Given the description of an element on the screen output the (x, y) to click on. 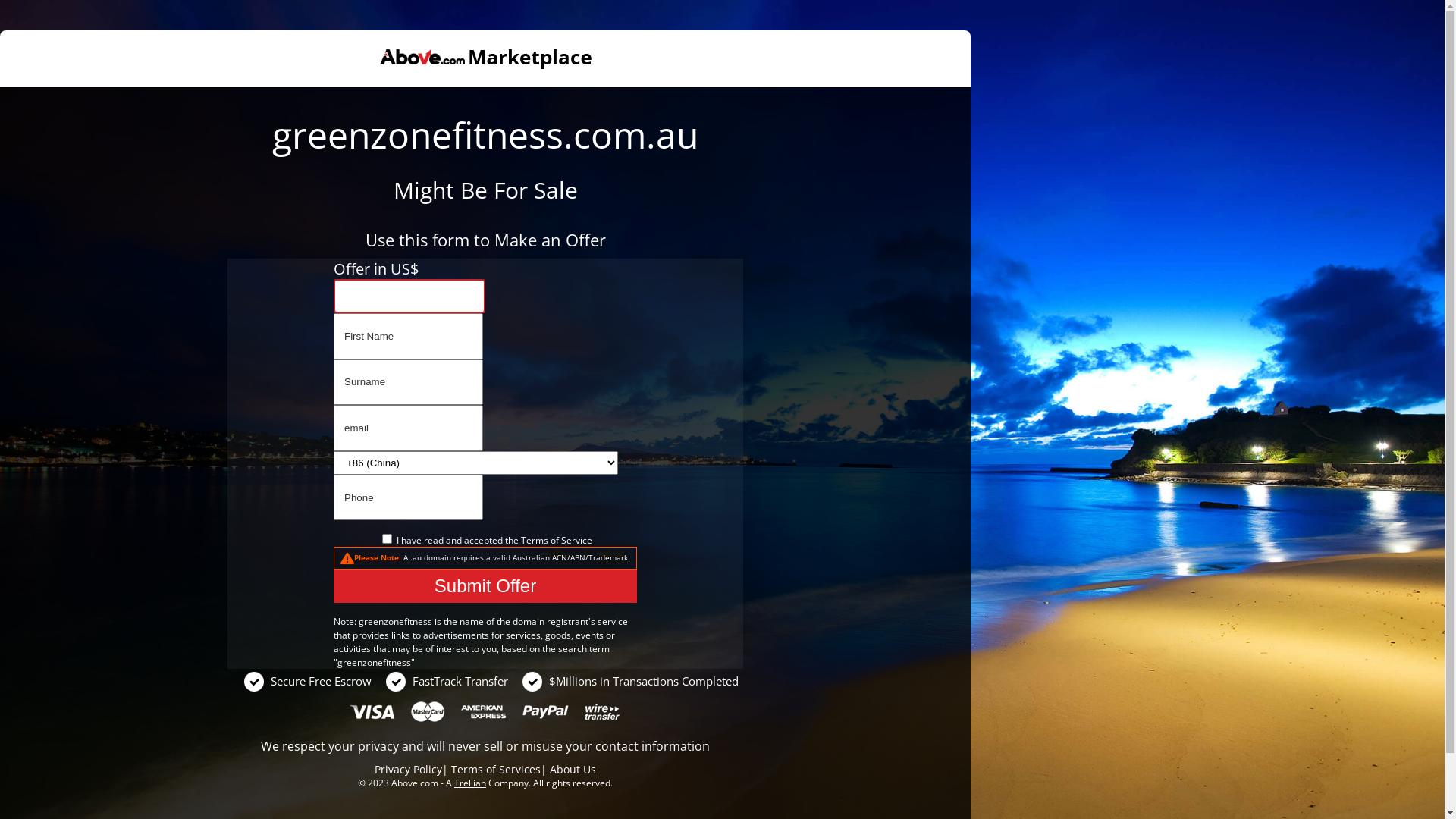
Trellian Element type: text (470, 782)
Privacy Policy Element type: text (408, 769)
About Us Element type: text (572, 769)
Terms Element type: text (533, 539)
Submit Offer Element type: text (485, 585)
Terms of Services Element type: text (495, 769)
